Given the description of an element on the screen output the (x, y) to click on. 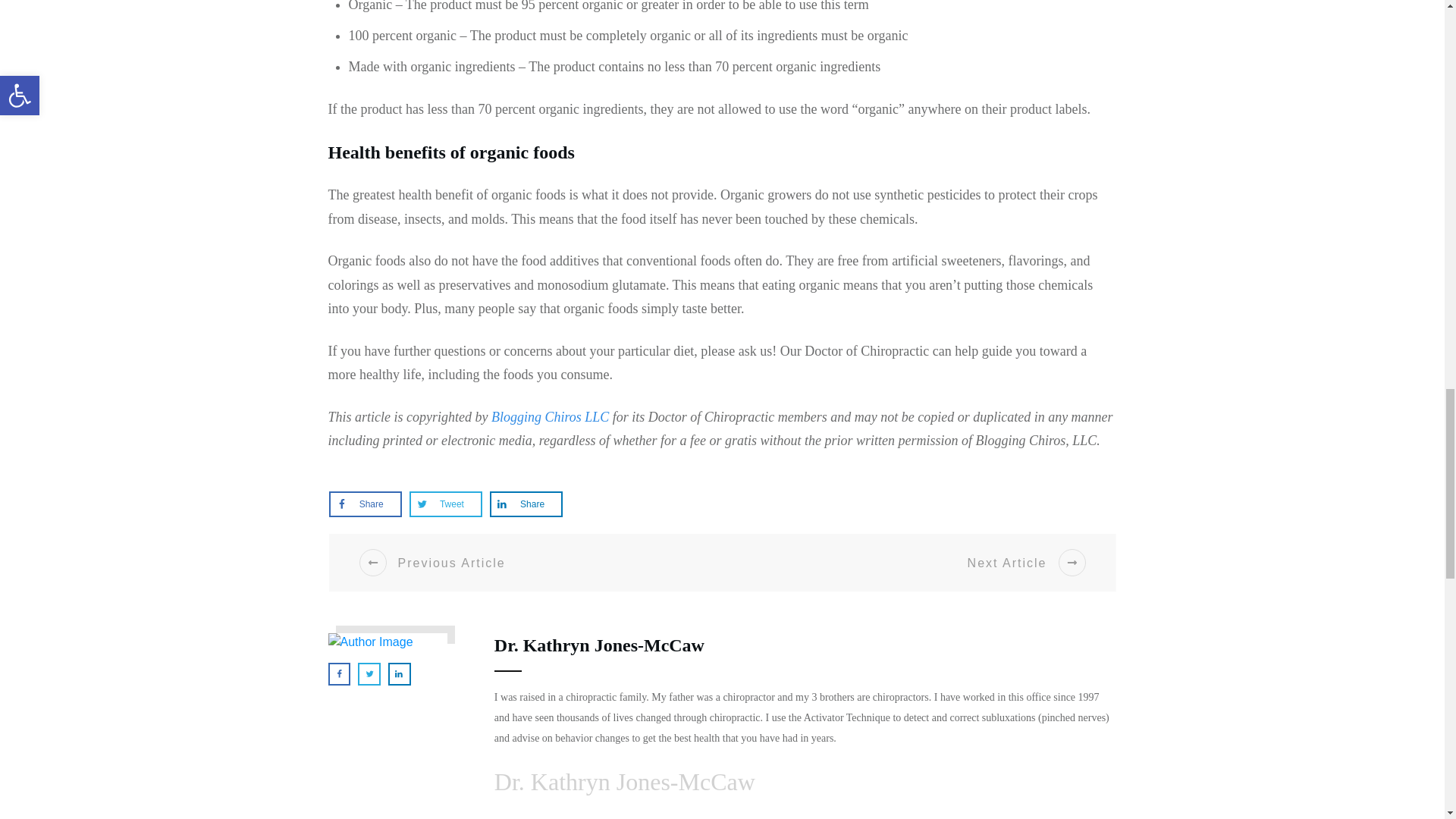
Blogging Chiros LLC (550, 417)
Tweet (445, 504)
Share (526, 504)
Share (365, 504)
